Given the description of an element on the screen output the (x, y) to click on. 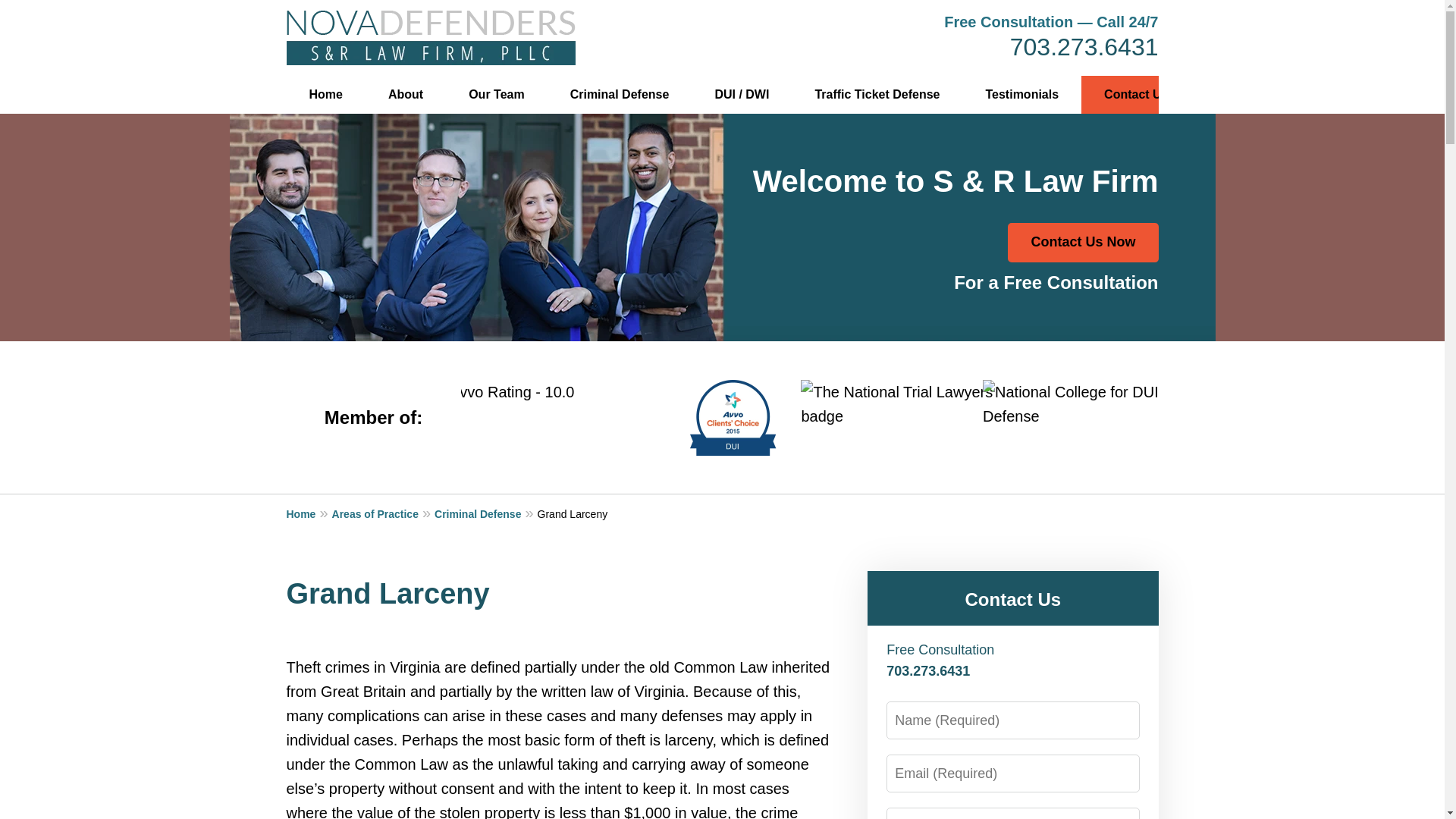
Traffic Ticket Defense (877, 94)
Contact Us (1012, 598)
Home (308, 513)
Testimonials (1021, 94)
Criminal Defense (485, 513)
Contact Us (1136, 94)
Areas of Practice (383, 513)
Home (325, 94)
703.273.6431 (1084, 46)
Our Team (496, 94)
About (405, 94)
Contact Us Now (1082, 242)
Criminal Defense (620, 94)
